Given the description of an element on the screen output the (x, y) to click on. 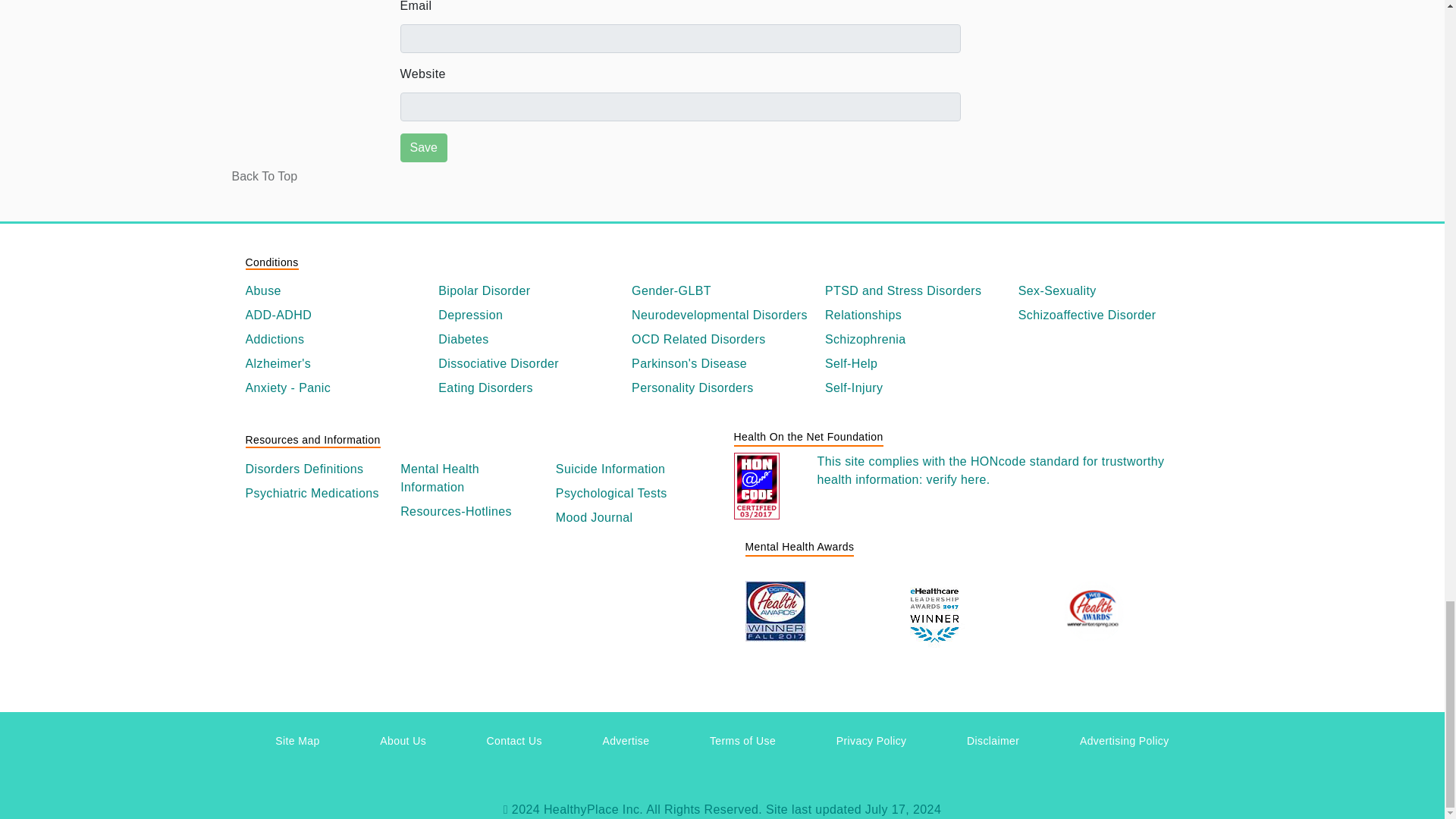
Parkinson's Disease Information Articles (721, 363)
